Given the description of an element on the screen output the (x, y) to click on. 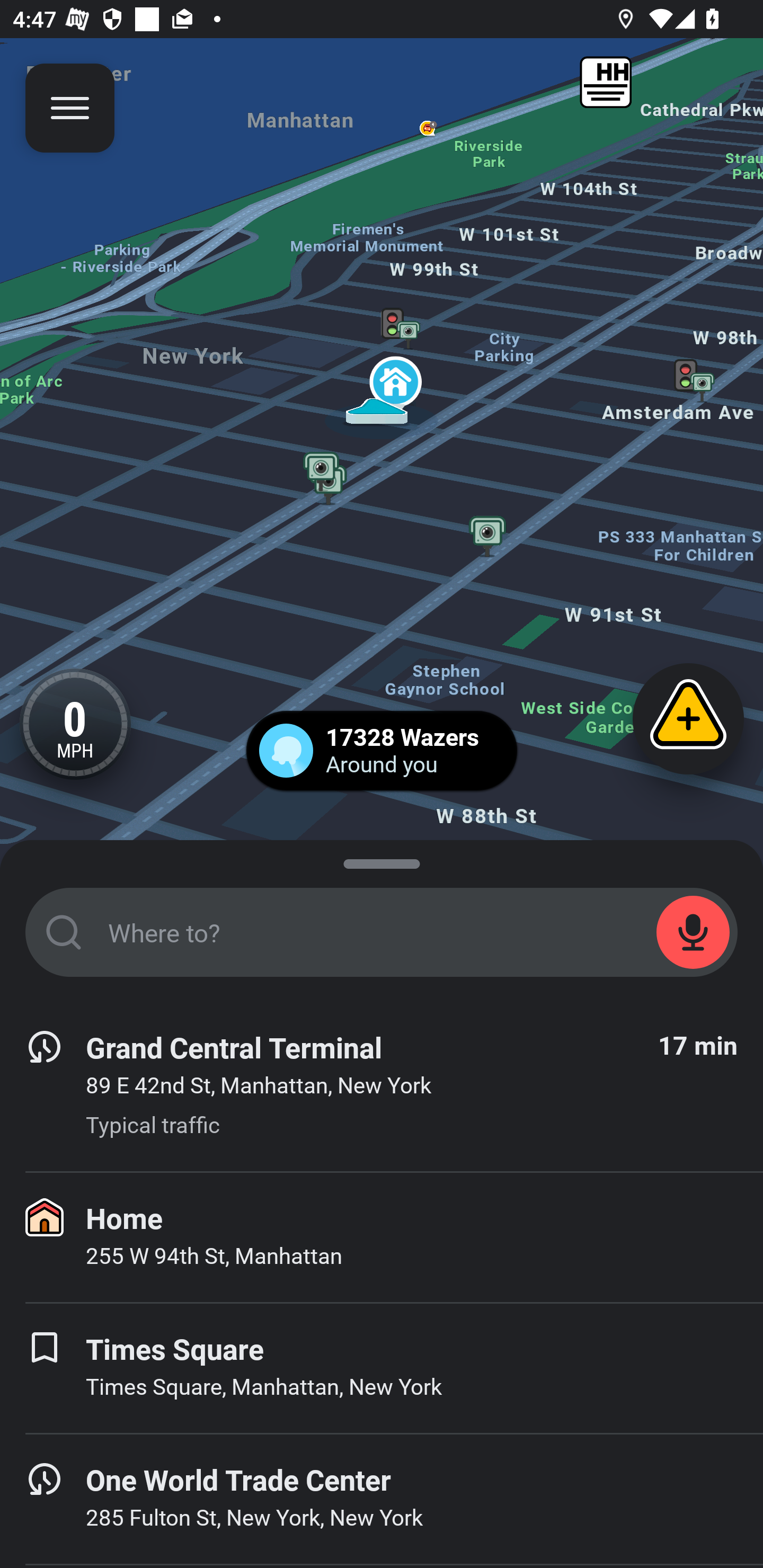
SUGGESTIONS_SHEET_DRAG_HANDLE (381, 860)
START_STATE_SEARCH_FIELD Where to? (381, 931)
Home 255 W 94th St, Manhattan (381, 1236)
Times Square Times Square, Manhattan, New York (381, 1368)
